Given the description of an element on the screen output the (x, y) to click on. 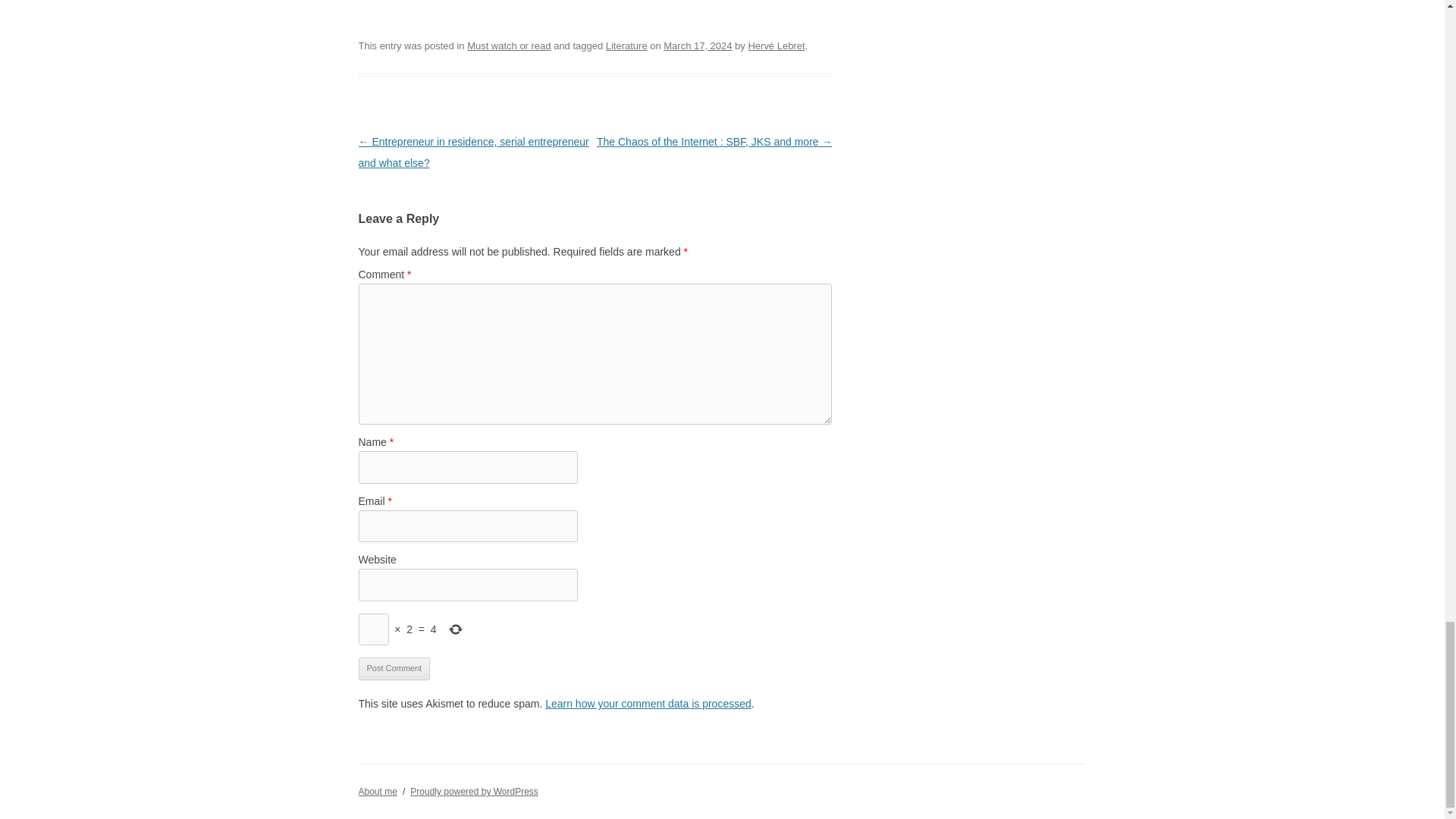
Literature (626, 45)
Post Comment (393, 668)
Semantic Personal Publishing Platform (474, 791)
Learn how your comment data is processed (647, 703)
March 17, 2024 (697, 45)
Must watch or read (508, 45)
Post Comment (393, 668)
11:34 pm (697, 45)
